Given the description of an element on the screen output the (x, y) to click on. 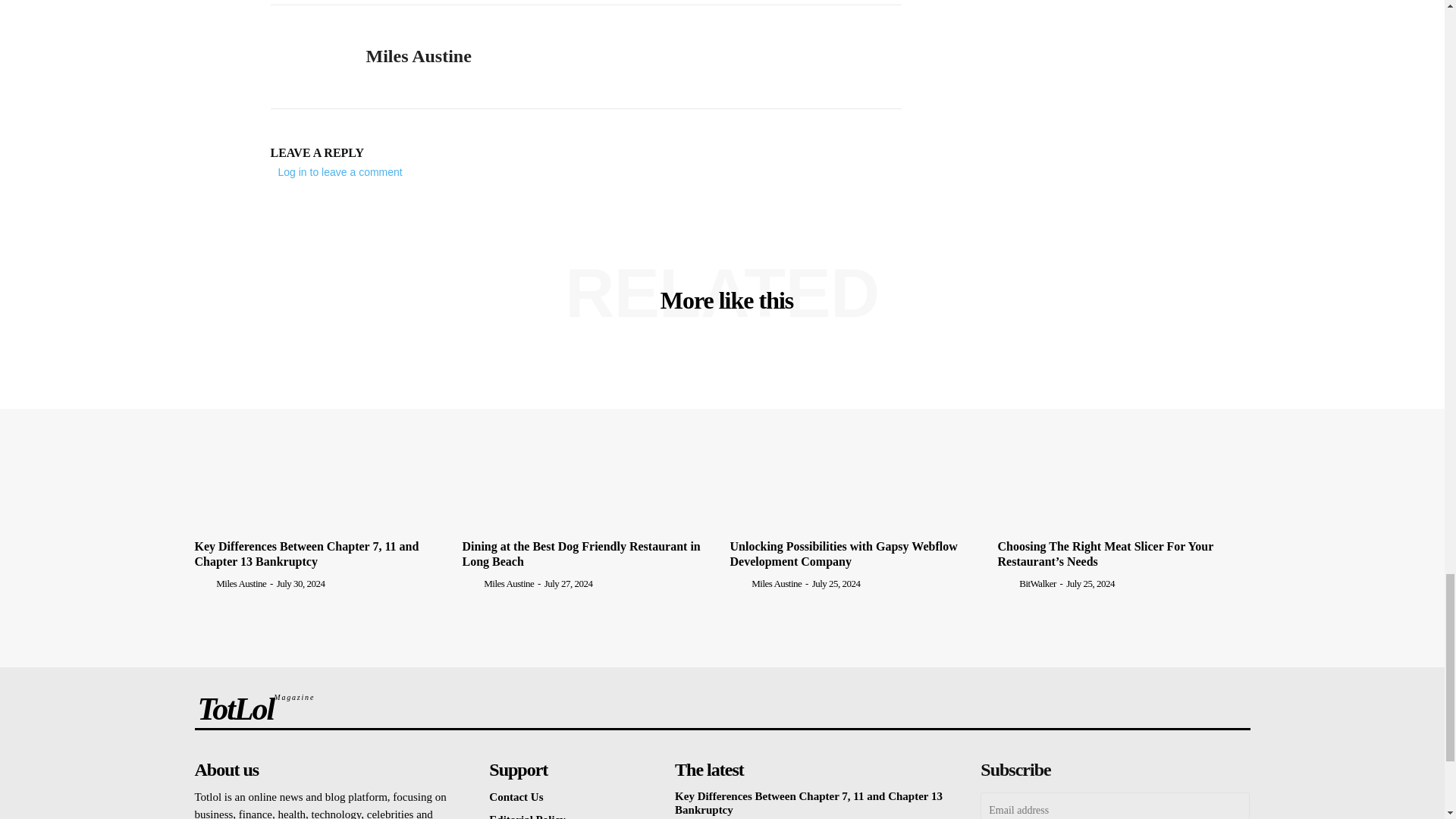
Miles Austine (305, 56)
